Given the description of an element on the screen output the (x, y) to click on. 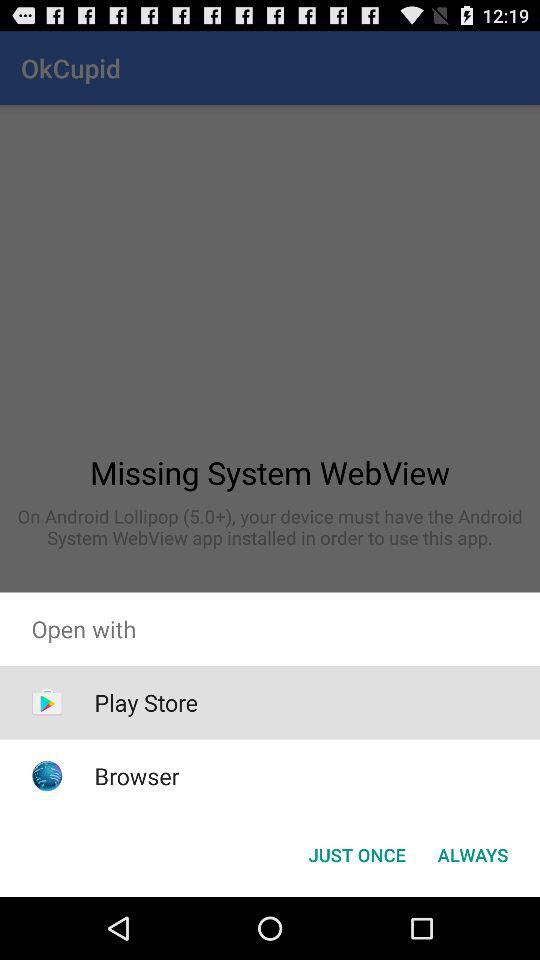
click just once item (356, 854)
